Given the description of an element on the screen output the (x, y) to click on. 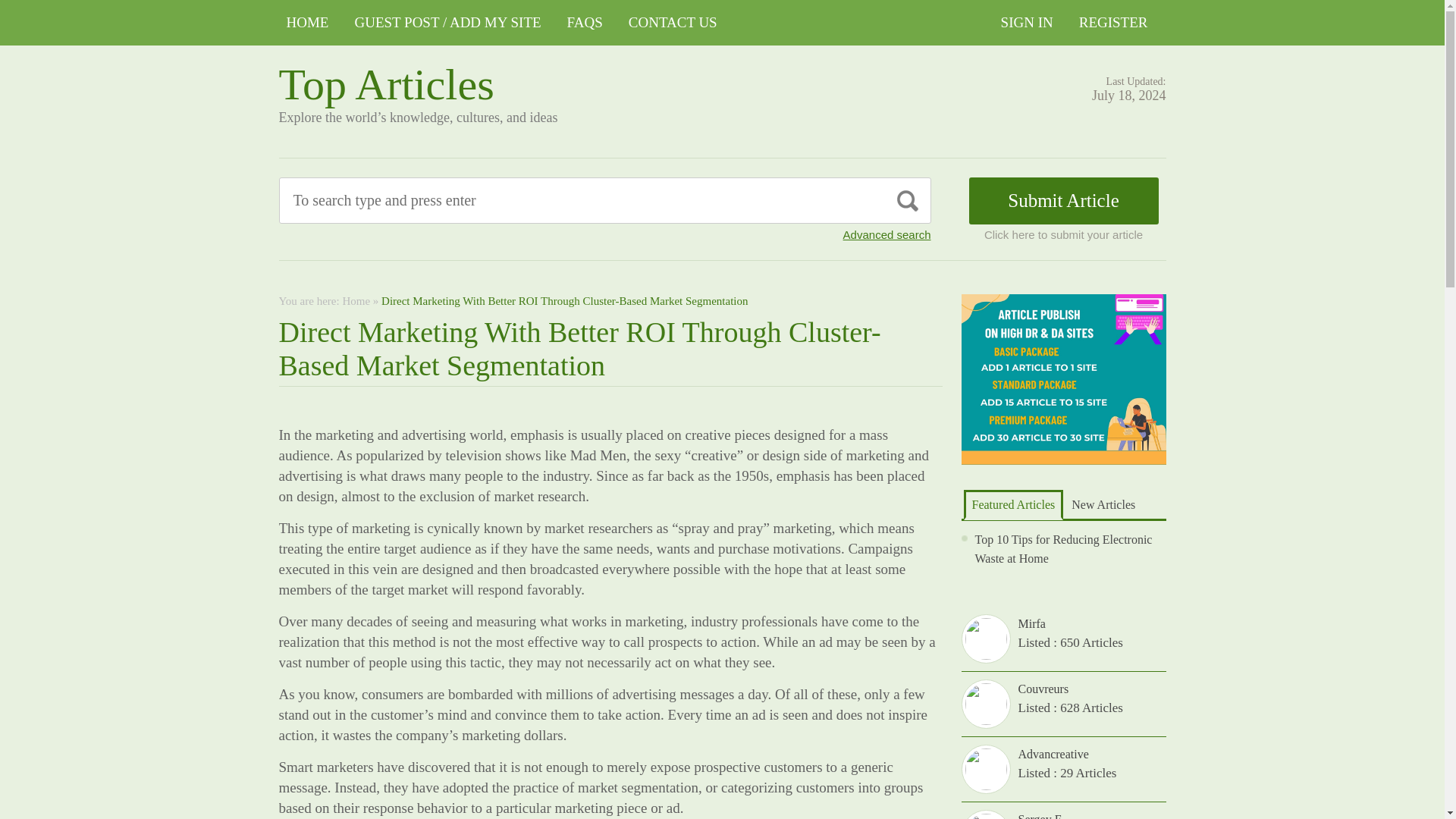
CONTACT US (673, 22)
SIGN IN (1026, 22)
New Articles (1103, 504)
Advanced search (887, 234)
REGISTER (1113, 22)
Home (355, 300)
Featured Articles (1012, 504)
Top Articles (387, 83)
HOME (307, 22)
FAQS (584, 22)
To search type and press enter (535, 200)
Submit Article (1063, 200)
